Given the description of an element on the screen output the (x, y) to click on. 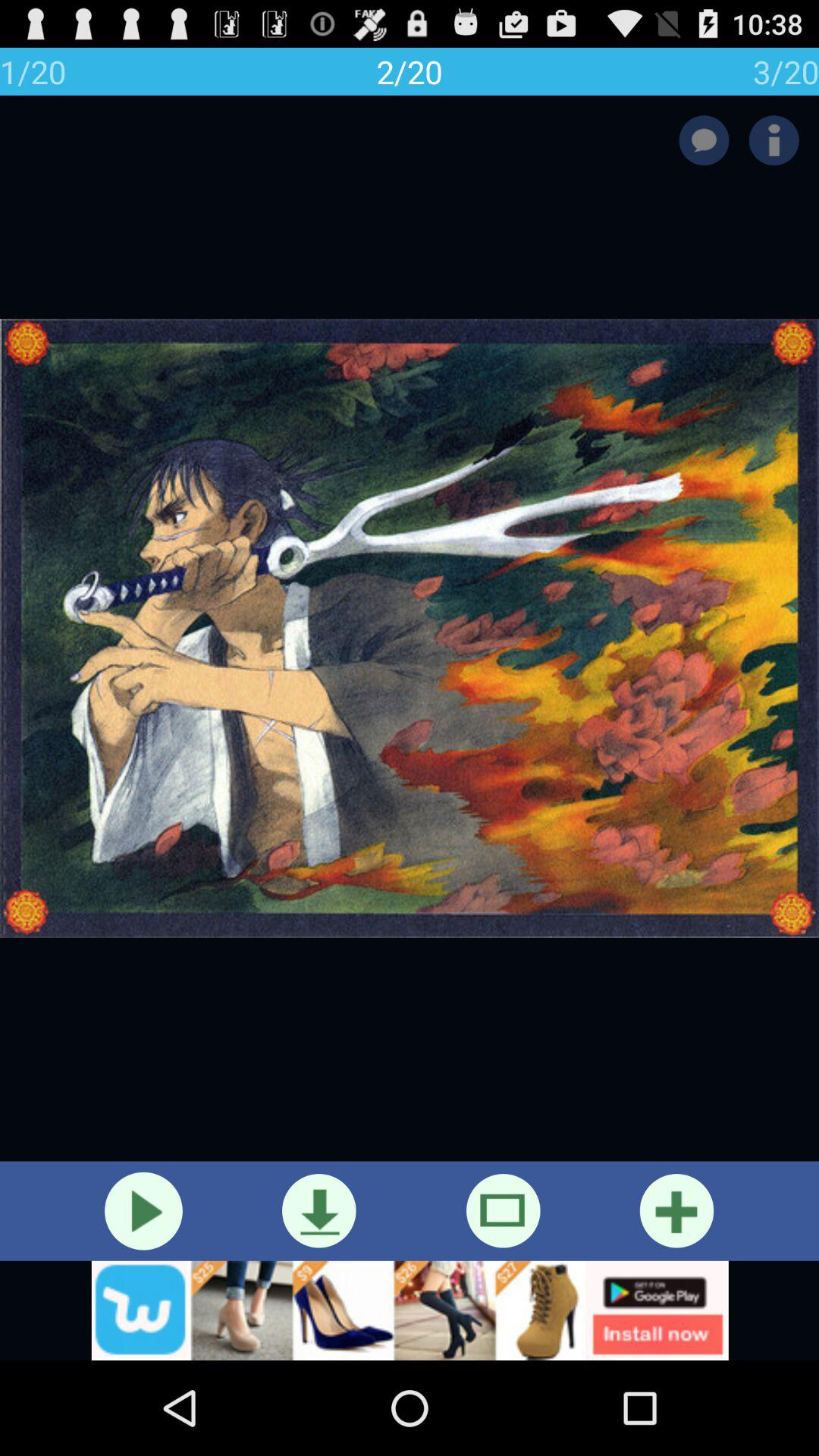
show more information (774, 140)
